Given the description of an element on the screen output the (x, y) to click on. 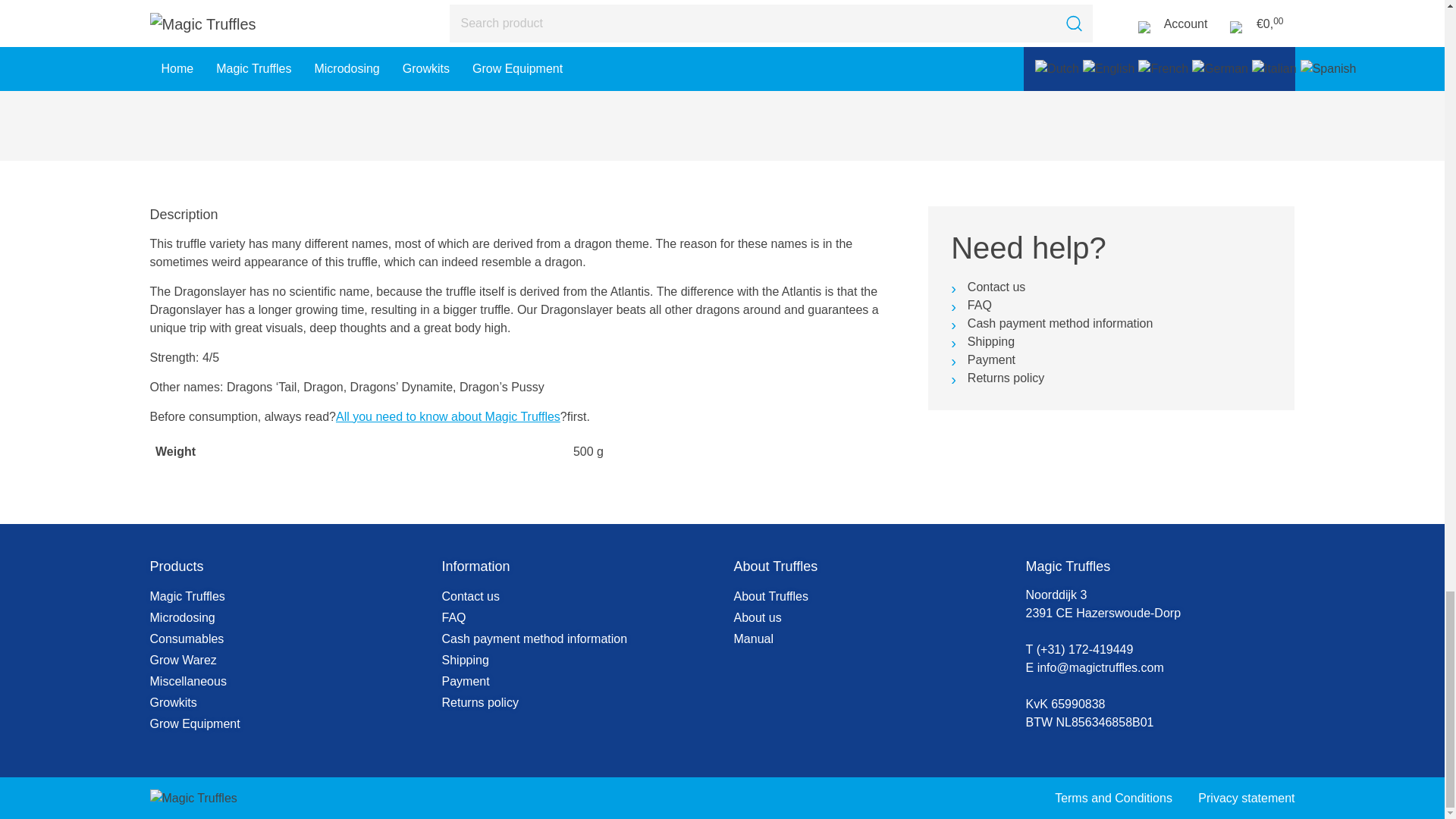
Returns policy (1005, 377)
FAQ (979, 305)
Cash payment method information (1060, 323)
Contact us (996, 286)
Payment (991, 359)
All you need to know about Magic Truffles (448, 416)
Magic Truffles (187, 595)
Shipping (991, 341)
